Given the description of an element on the screen output the (x, y) to click on. 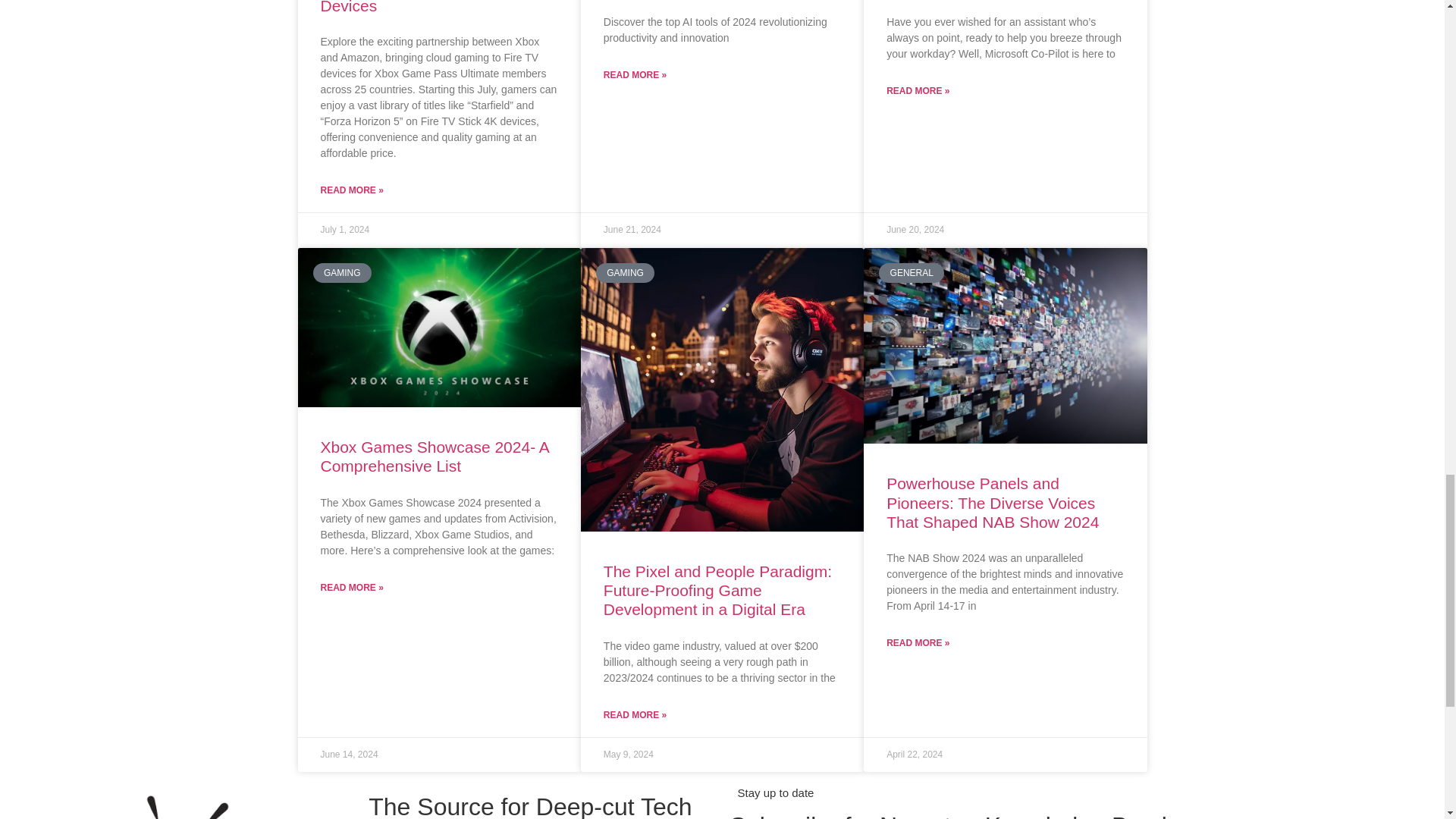
Xbox Games Showcase 2024- A Comprehensive List (434, 456)
